Given the description of an element on the screen output the (x, y) to click on. 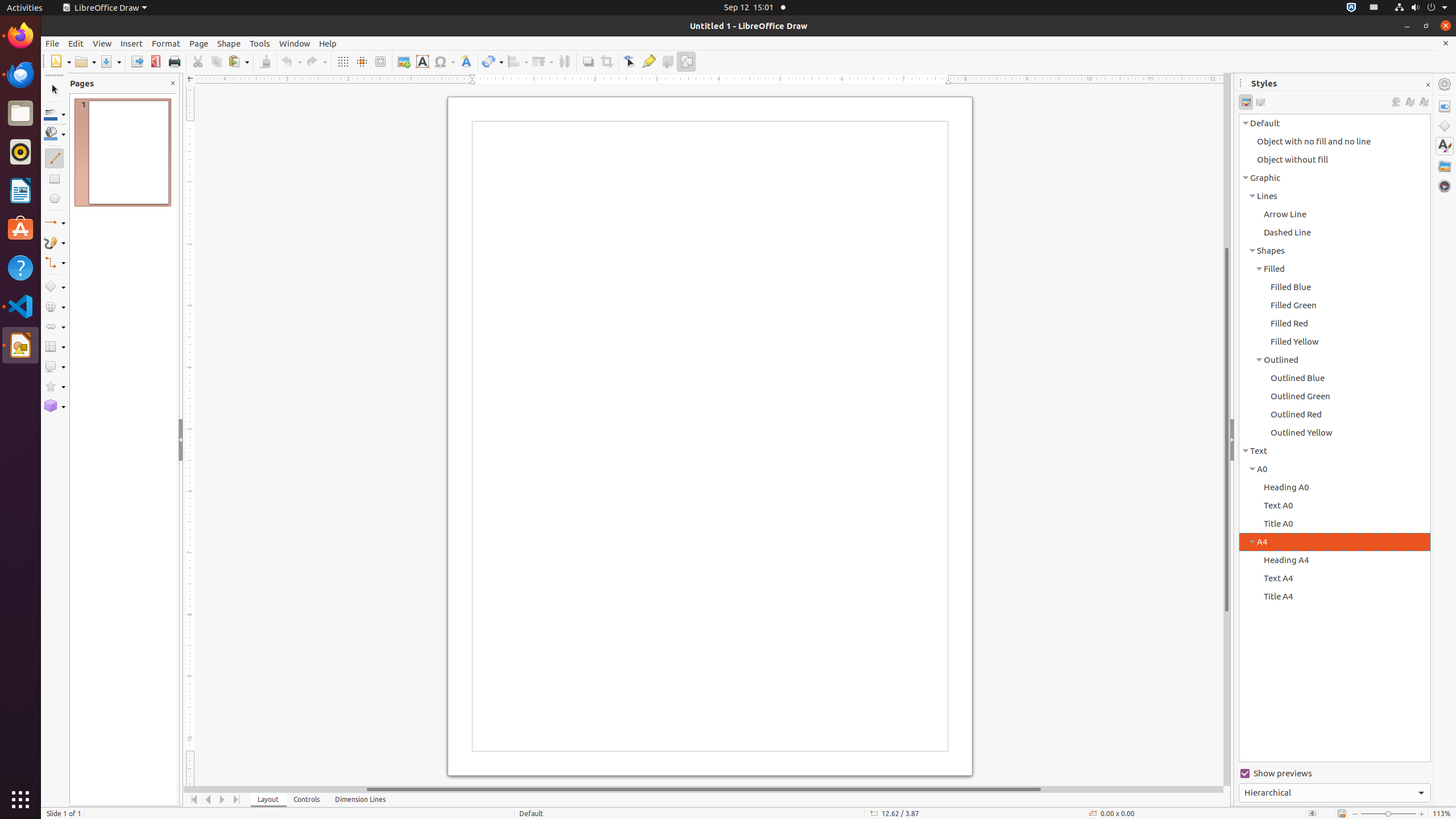
Symbol Element type: push-button (443, 61)
Helplines While Moving Element type: toggle-button (361, 61)
Window Element type: menu (294, 43)
Horizontal scroll bar Element type: scroll-bar (703, 789)
